Given the description of an element on the screen output the (x, y) to click on. 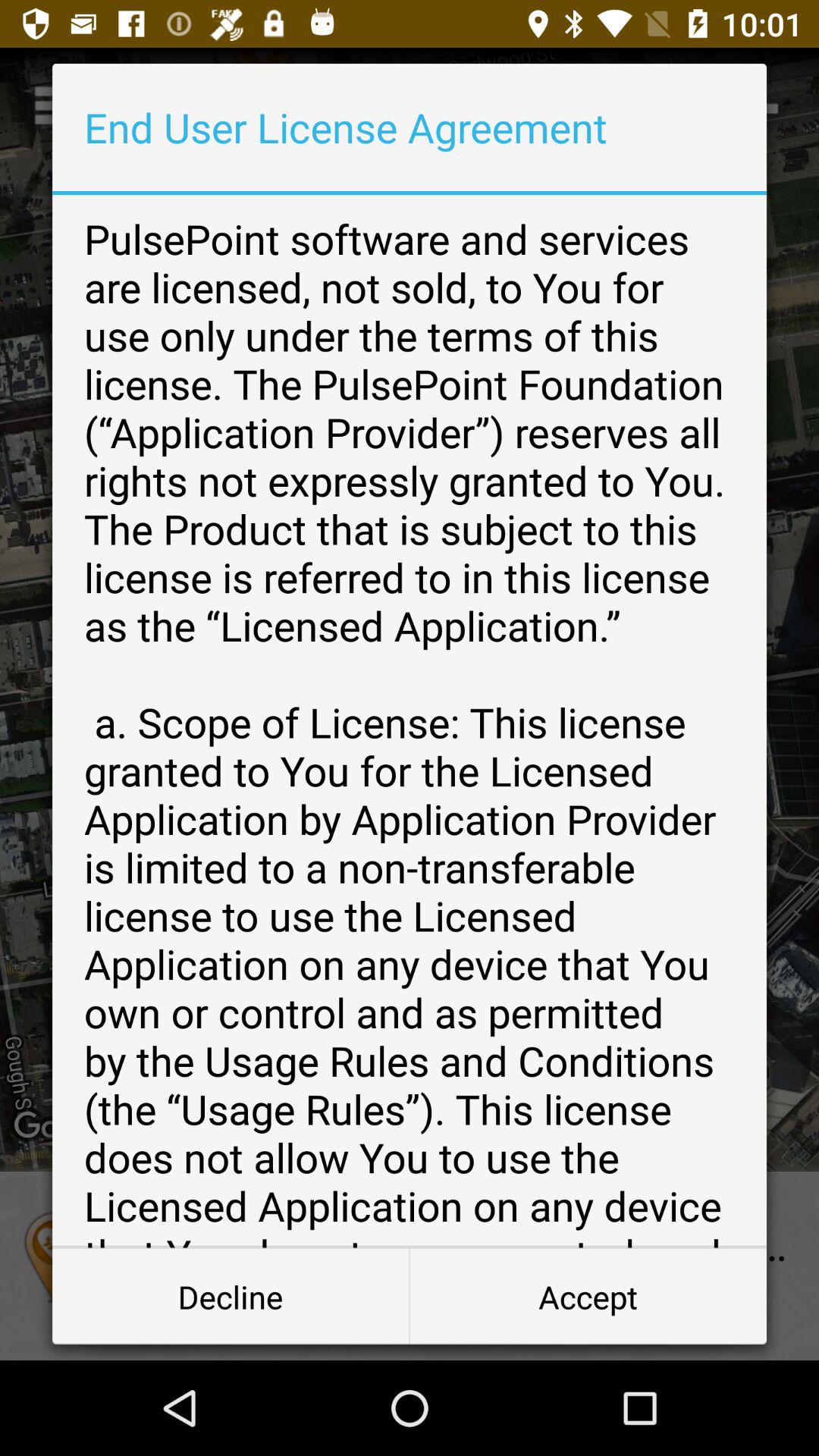
open icon at the bottom right corner (588, 1296)
